Given the description of an element on the screen output the (x, y) to click on. 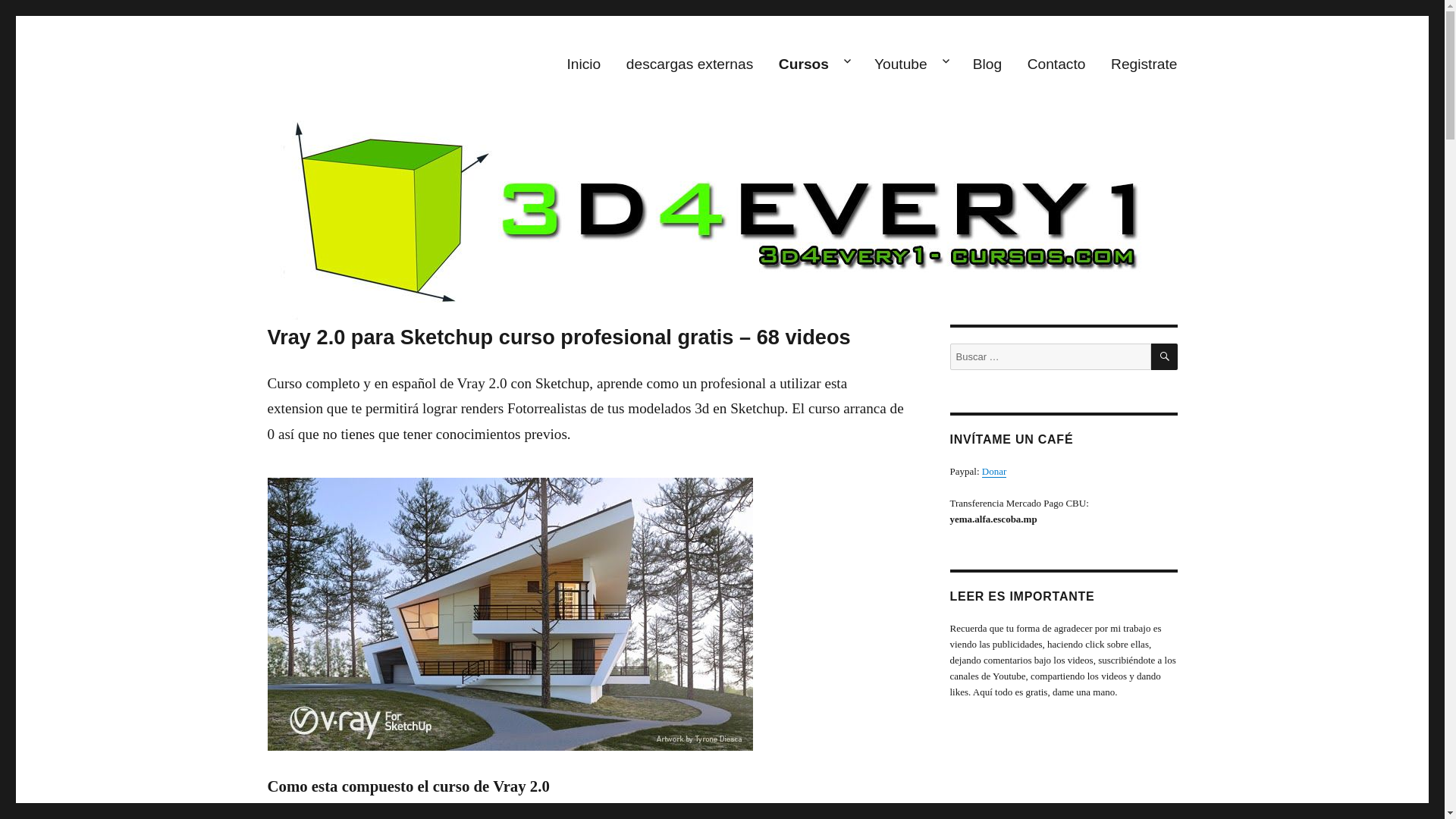
BUSCAR Element type: text (1164, 356)
Registrate Element type: text (1143, 63)
descargas externas Element type: text (689, 63)
Cursos Element type: text (813, 63)
Inicio Element type: text (583, 63)
3d4every1 Element type: text (318, 32)
Blog Element type: text (987, 63)
Donar Element type: text (994, 470)
Youtube Element type: text (910, 63)
Contacto Element type: text (1056, 63)
